Given the description of an element on the screen output the (x, y) to click on. 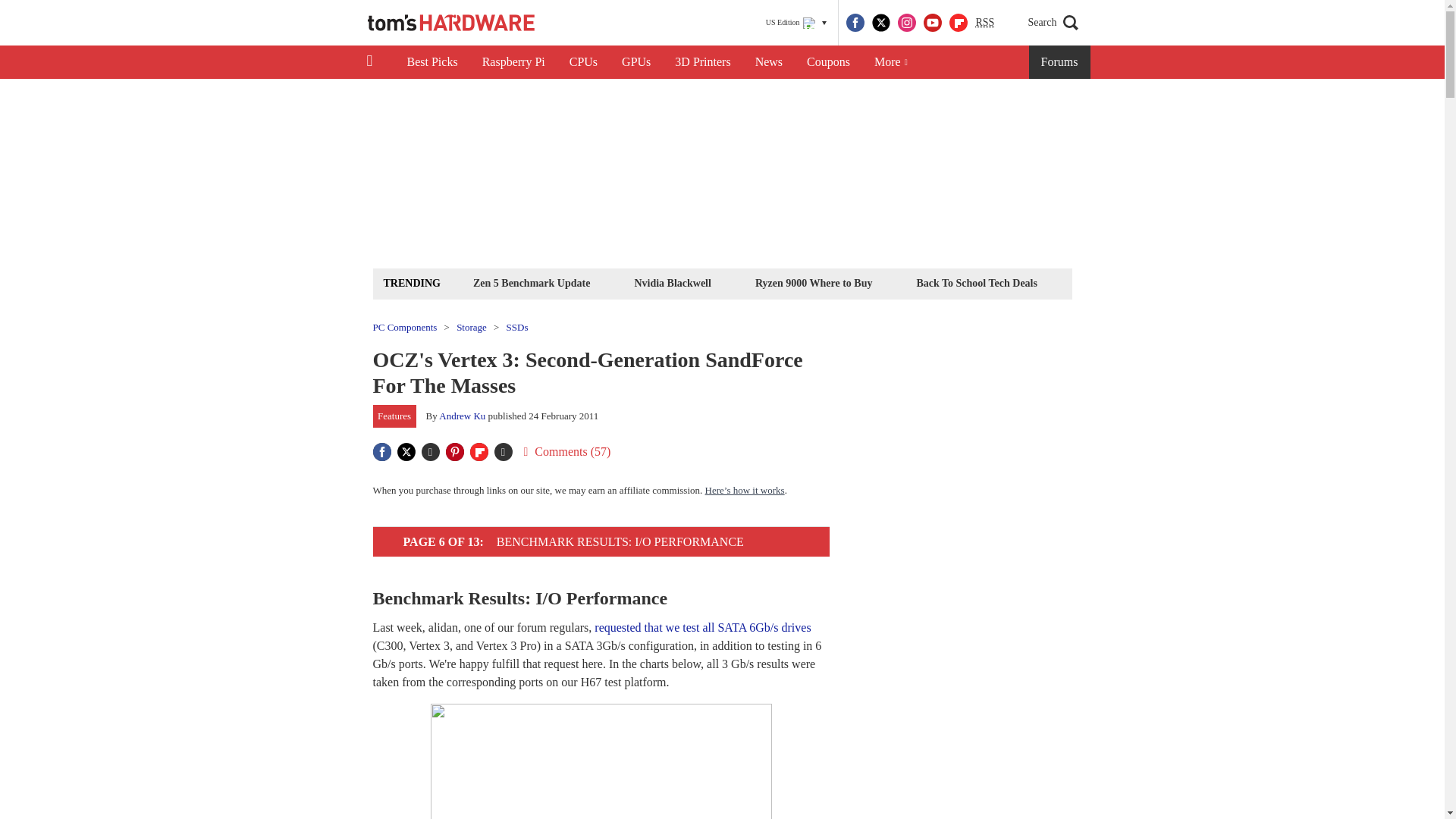
3D Printers (702, 61)
Really Simple Syndication (984, 21)
US Edition (796, 22)
News (768, 61)
CPUs (583, 61)
GPUs (636, 61)
RSS (984, 22)
Best Picks (431, 61)
Coupons (827, 61)
Raspberry Pi (513, 61)
